Given the description of an element on the screen output the (x, y) to click on. 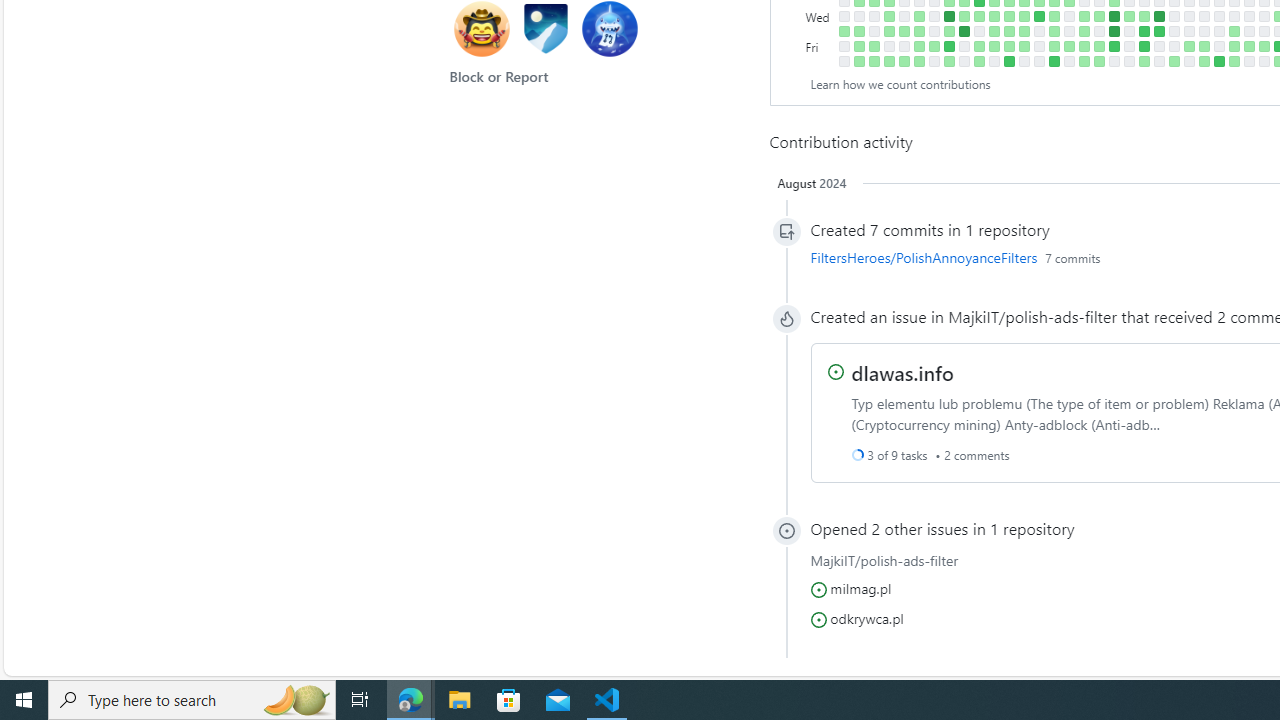
No contributions on February 15th. (1218, 30)
2 contributions on August 31st. (858, 30)
5 contributions on November 15th. (1023, 16)
3 contributions on February 10th. (1203, 61)
2 contributions on August 24th. (843, 30)
2 contributions on September 21st. (904, 30)
No contributions on September 20th. (904, 16)
1 contribution on September 23rd. (904, 61)
2 contributions on November 3rd. (993, 46)
No contributions on February 28th. (1248, 16)
7 contributions on January 11th. (1143, 30)
4 contributions on September 30th. (918, 61)
Saturday (819, 61)
12 contributions on October 19th. (963, 30)
